Given the description of an element on the screen output the (x, y) to click on. 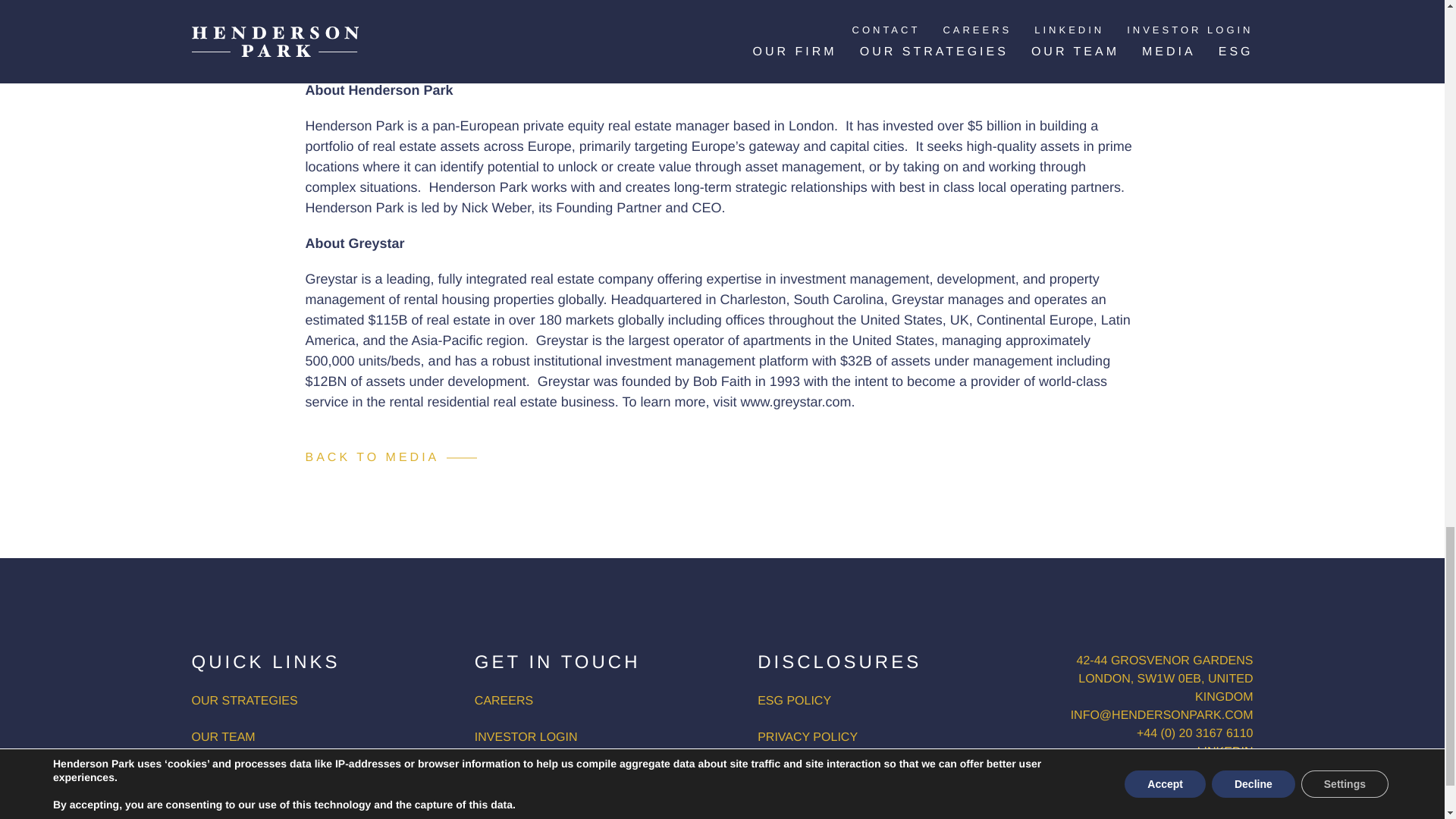
ESG POLICY (794, 700)
www.greystar.com (794, 401)
CAREERS (503, 700)
FIRM UPDATES (235, 773)
CONTACT US (513, 773)
TEAM (237, 737)
LINKEDIN (1224, 751)
INVESTOR LOGIN (526, 737)
PRIVACY POLICY (807, 737)
OUR STRATEGIES (243, 700)
